Given the description of an element on the screen output the (x, y) to click on. 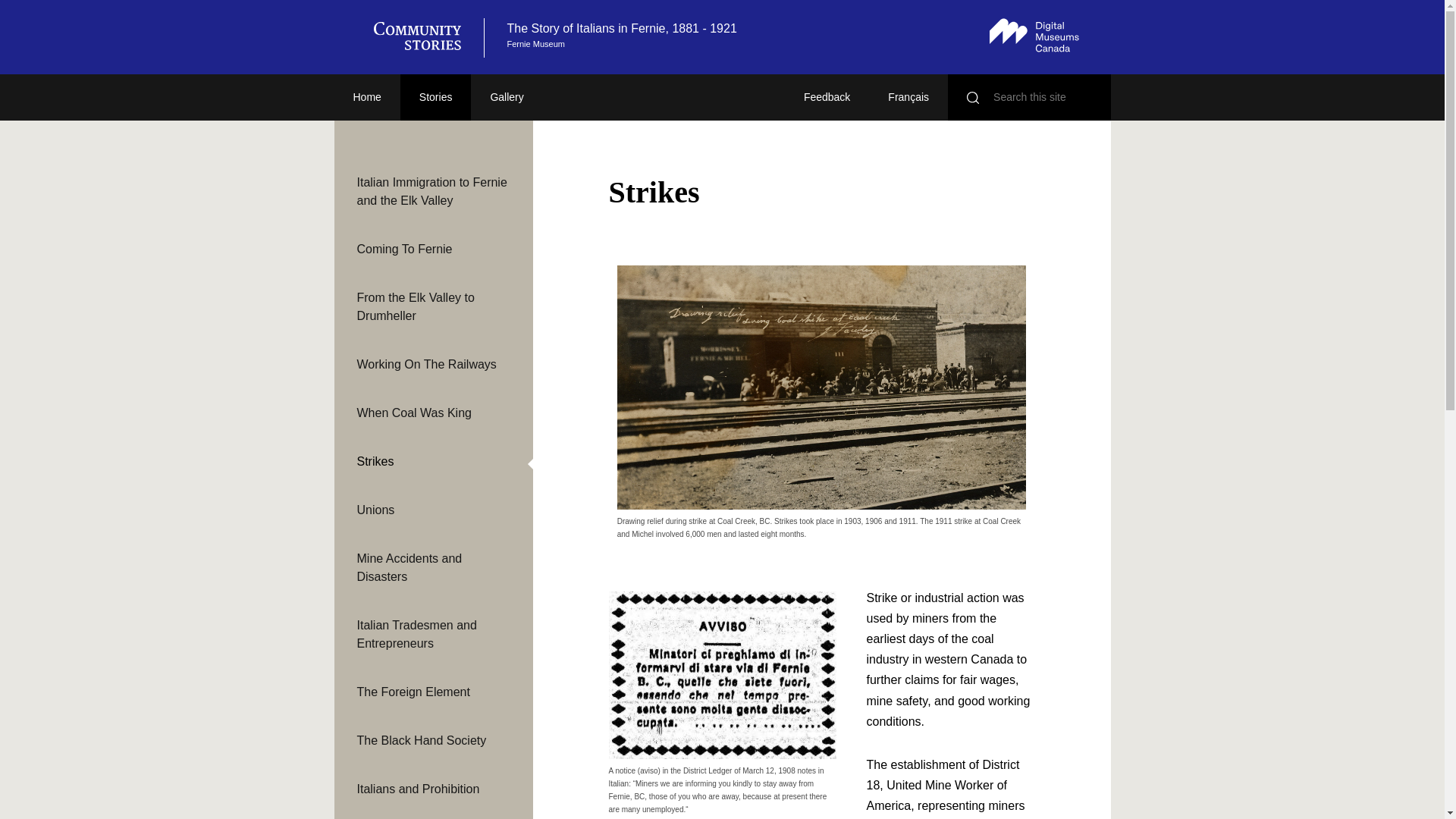
Digital Museums Canada (1034, 35)
Gallery (505, 97)
Working On The Railways (432, 364)
Community Stories (424, 37)
Feedback (826, 97)
Italian Immigration to Fernie and the Elk Valley (432, 191)
Coming To Fernie (432, 249)
From the Elk Valley to Drumheller (432, 307)
Home (365, 97)
Stories (435, 97)
